Given the description of an element on the screen output the (x, y) to click on. 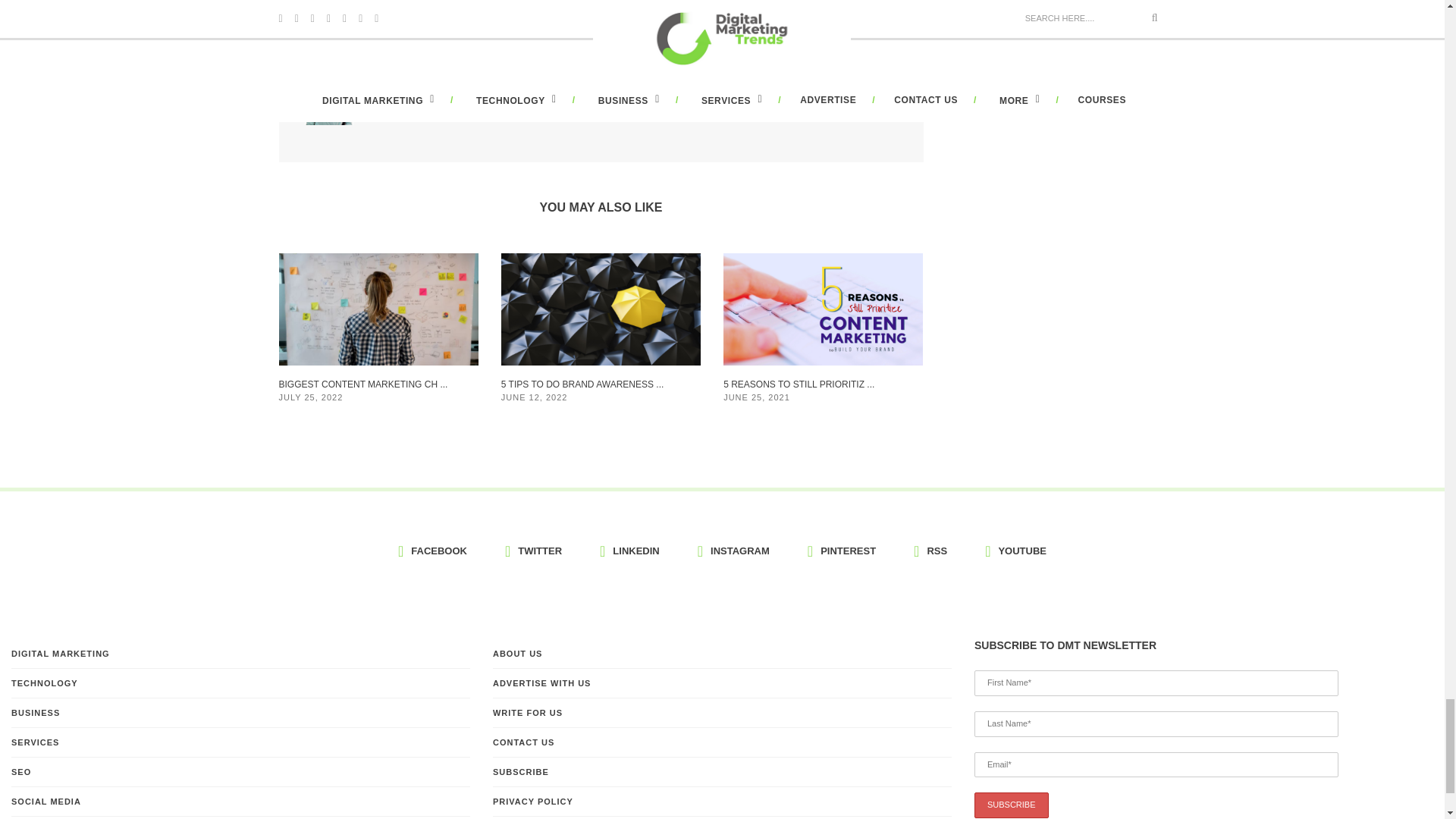
SUBSCRIBE (1011, 805)
